Given the description of an element on the screen output the (x, y) to click on. 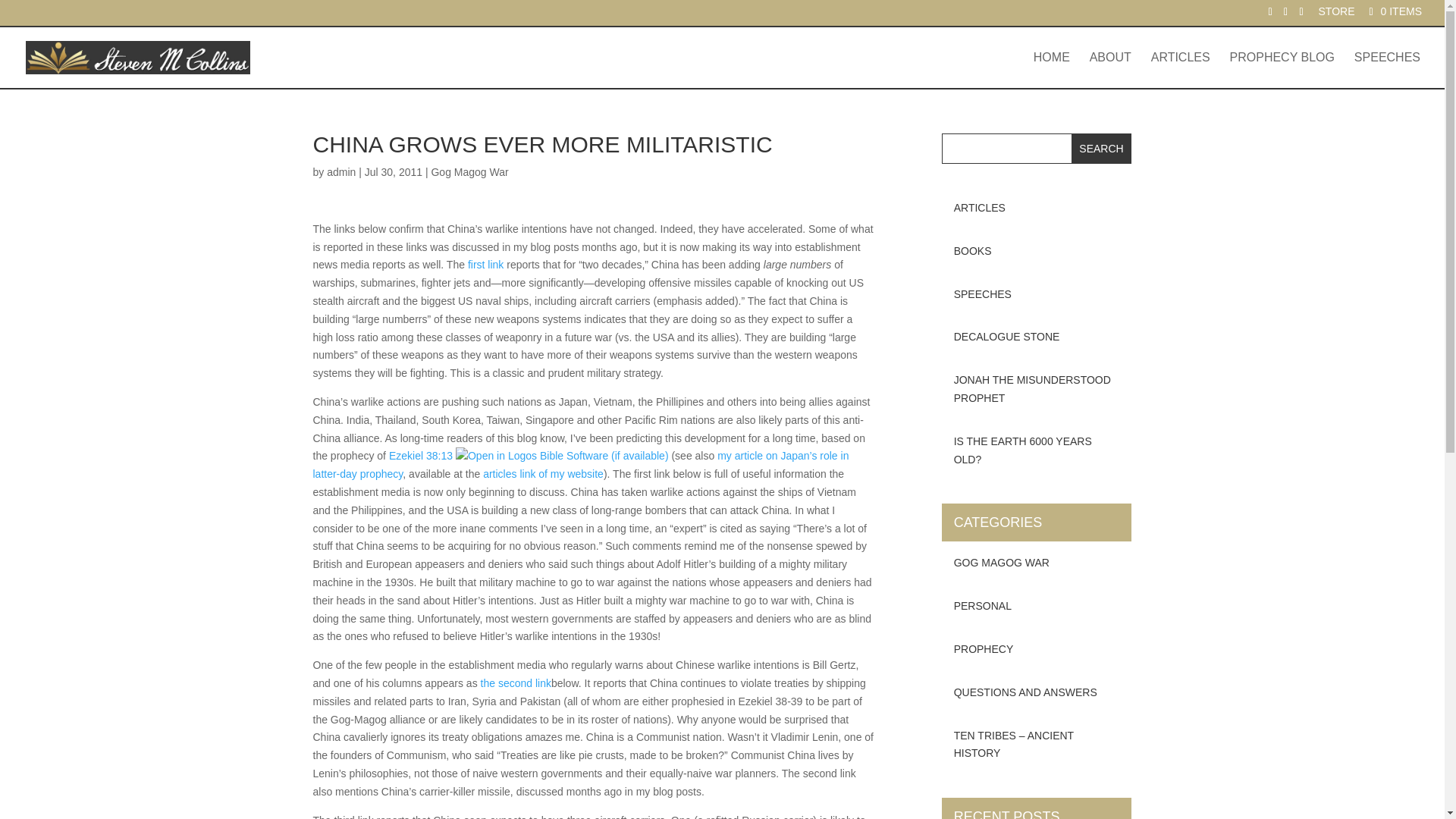
ABOUT (1110, 69)
STORE (1337, 15)
Posts by admin (340, 172)
DECALOGUE STONE (1037, 337)
admin (340, 172)
SPEECHES (1387, 69)
SPEECHES (1037, 294)
HOME (1051, 69)
Search (1101, 148)
Search (1101, 148)
JONAH THE MISUNDERSTOOD PROPHET (1037, 389)
Ezekiel 38:13 (420, 455)
ARTICLES (1180, 69)
Gog Magog War (469, 172)
first link (485, 264)
